Given the description of an element on the screen output the (x, y) to click on. 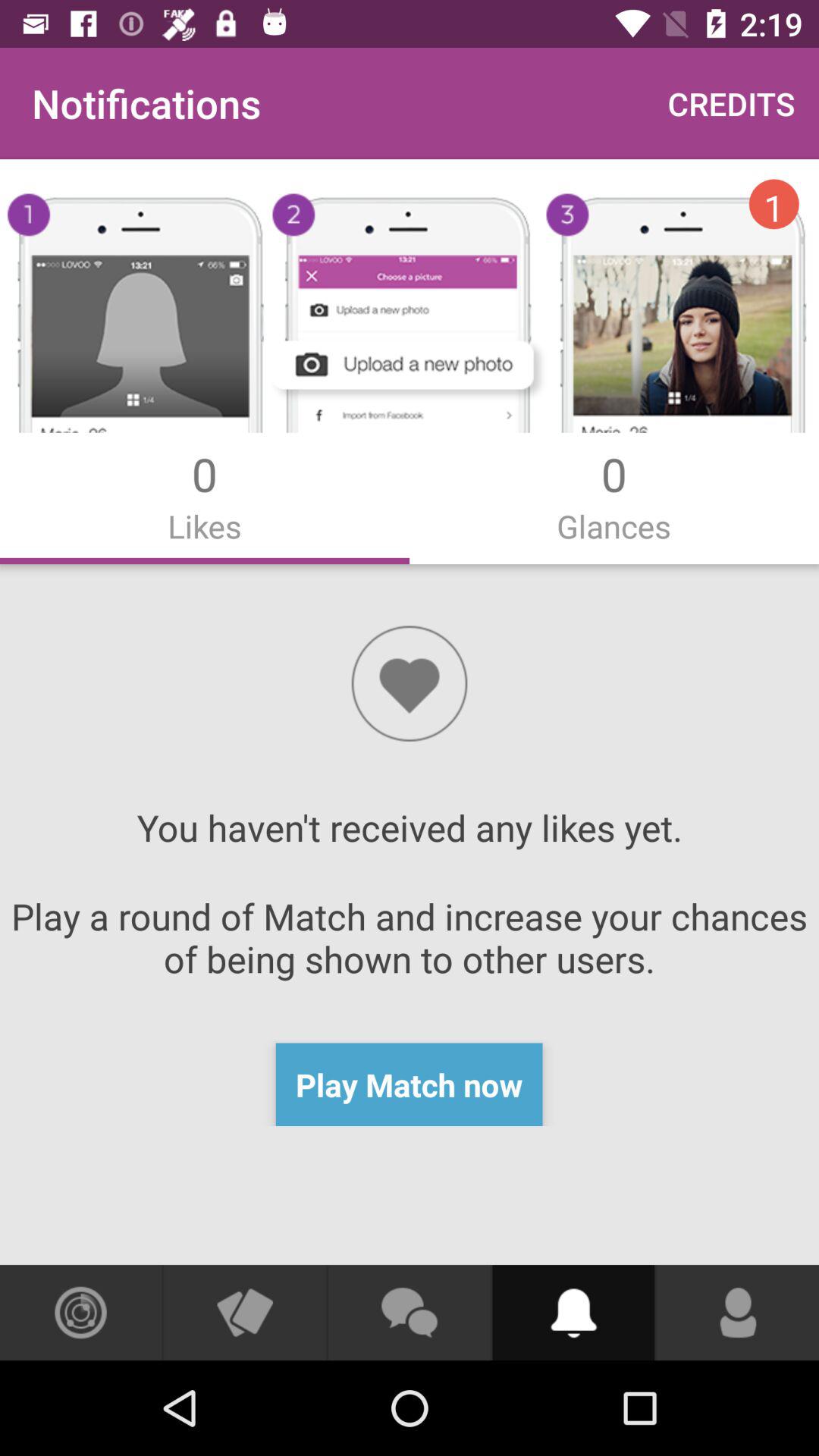
tap credits (731, 103)
